Given the description of an element on the screen output the (x, y) to click on. 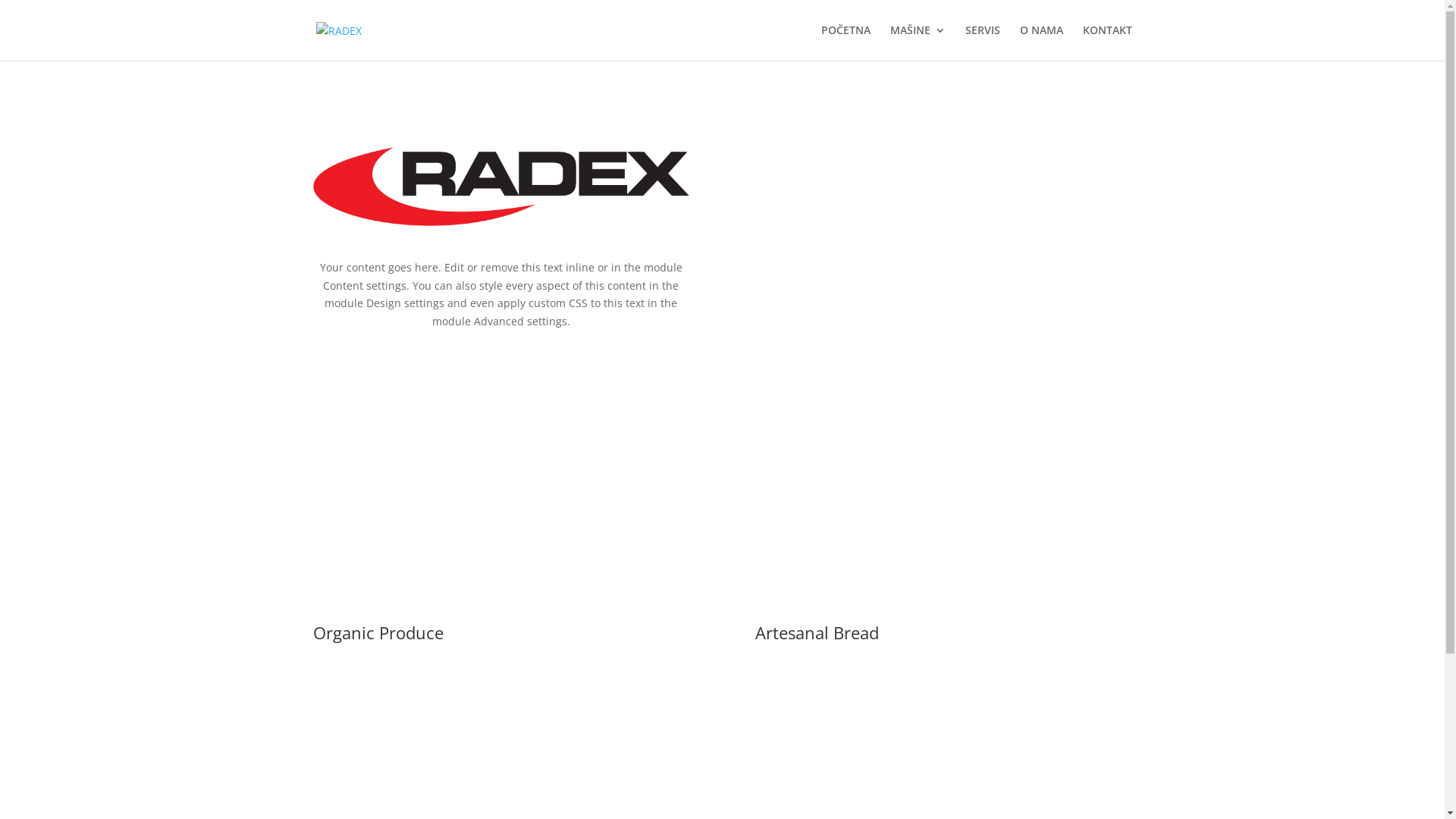
O NAMA Element type: text (1040, 42)
KONTAKT Element type: text (1107, 42)
RADEX_LOGO Element type: hover (500, 186)
SERVIS Element type: text (981, 42)
